Given the description of an element on the screen output the (x, y) to click on. 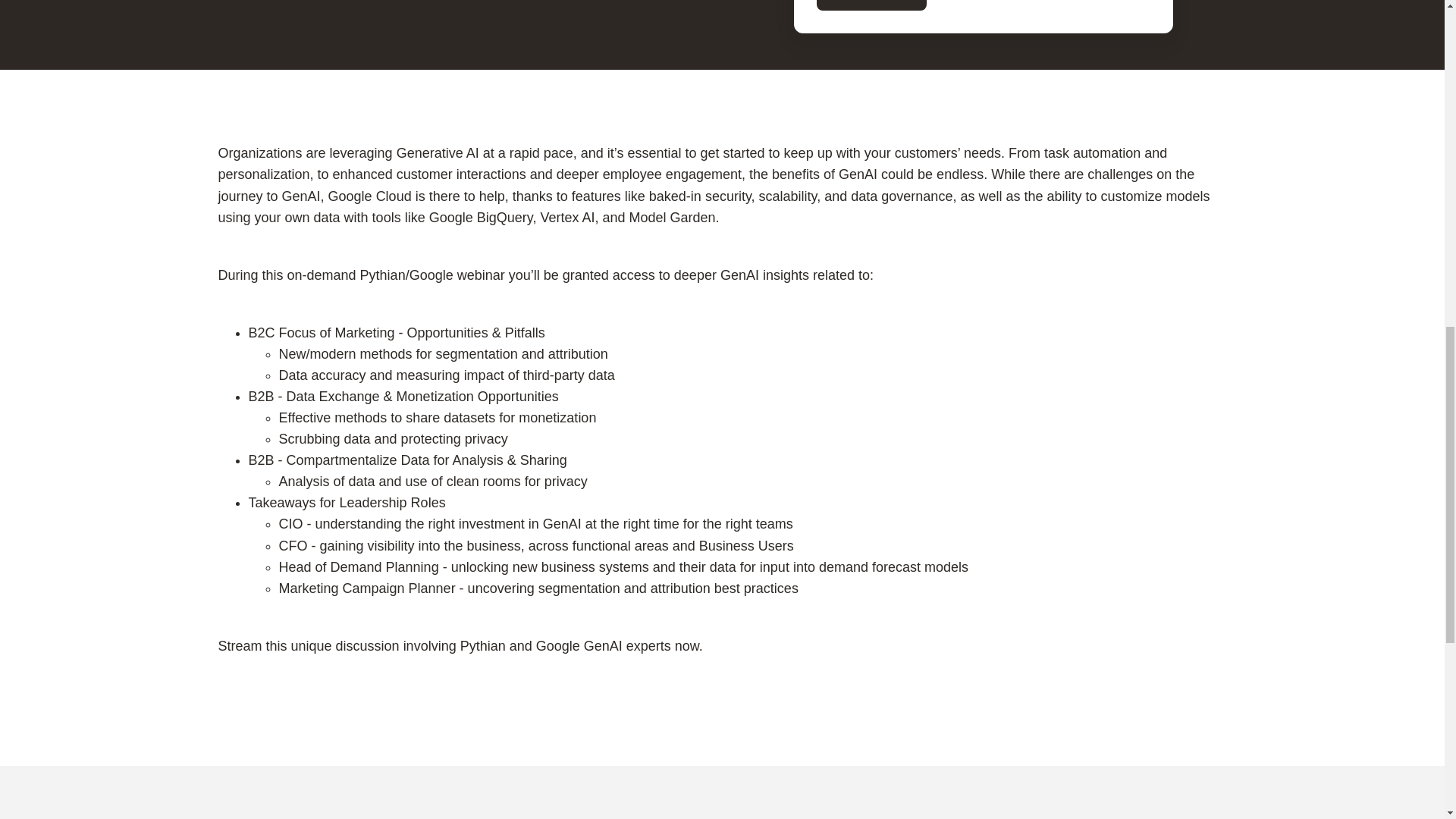
Stream now (871, 5)
Stream now (871, 5)
